Given the description of an element on the screen output the (x, y) to click on. 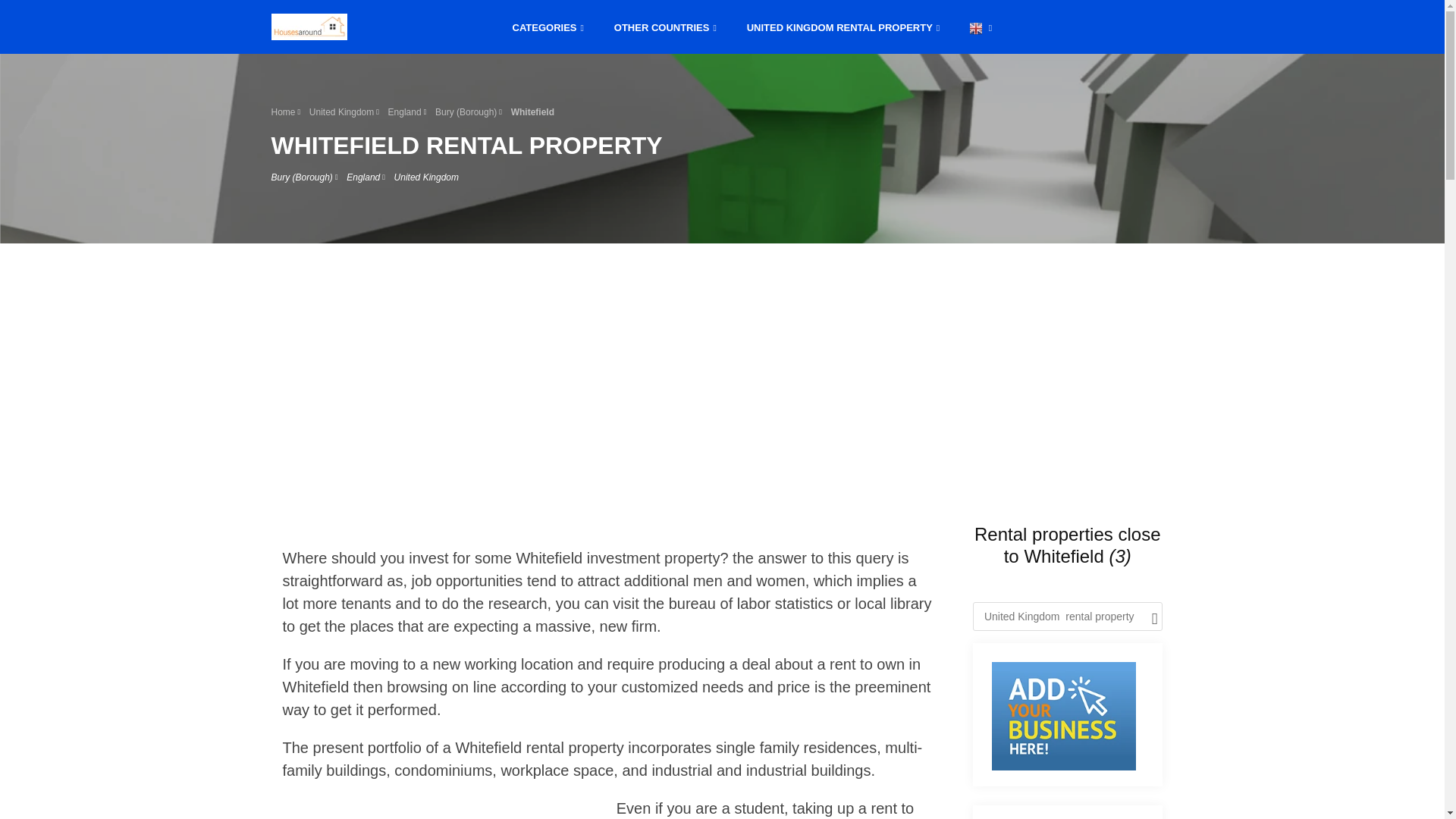
UNITED KINGDOM RENTAL PROPERTY (843, 25)
OTHER COUNTRIES (664, 25)
CATEGORIES (547, 25)
